Given the description of an element on the screen output the (x, y) to click on. 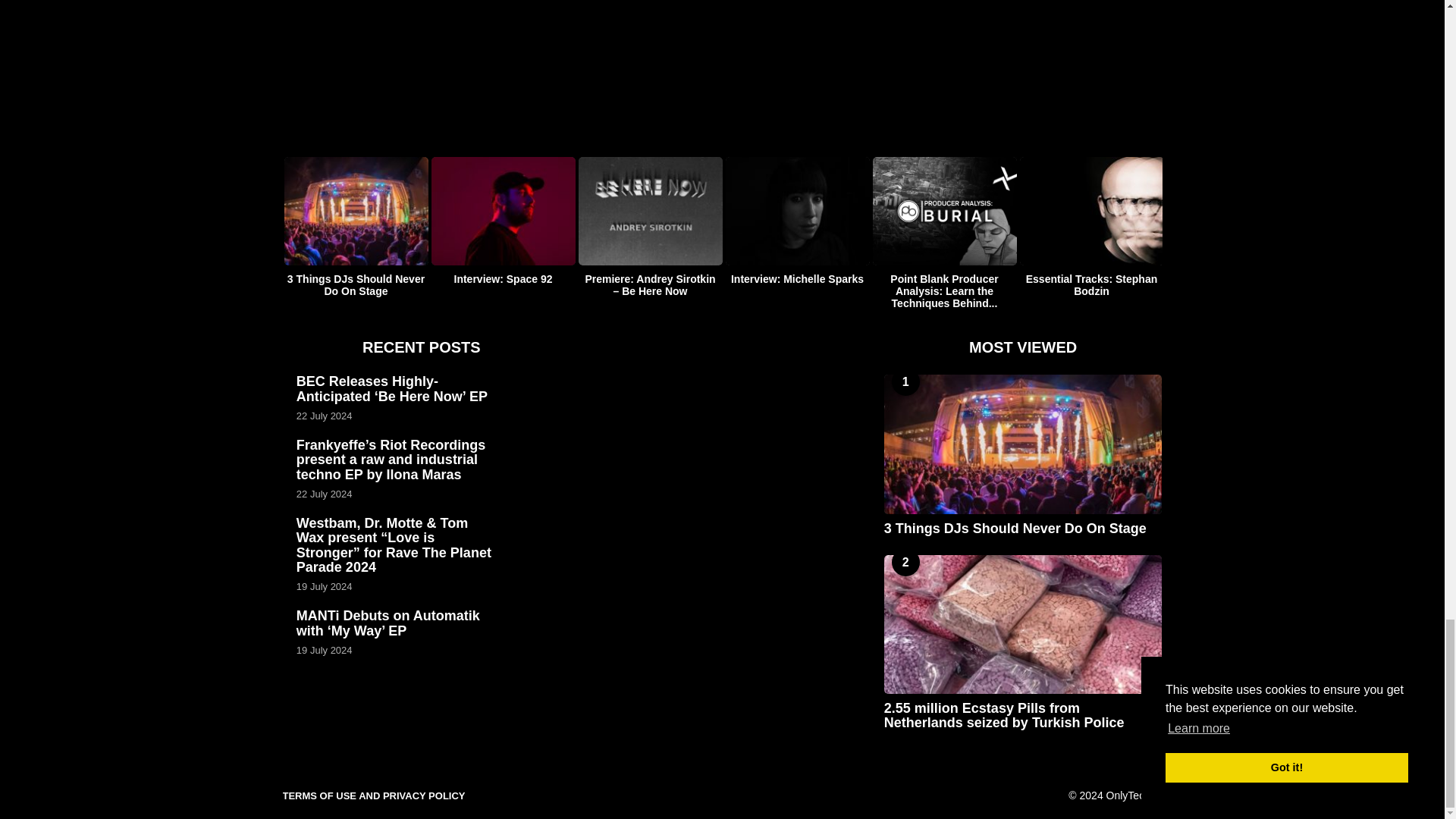
3 Things DJs Should Never Do On Stage (1022, 443)
